Given the description of an element on the screen output the (x, y) to click on. 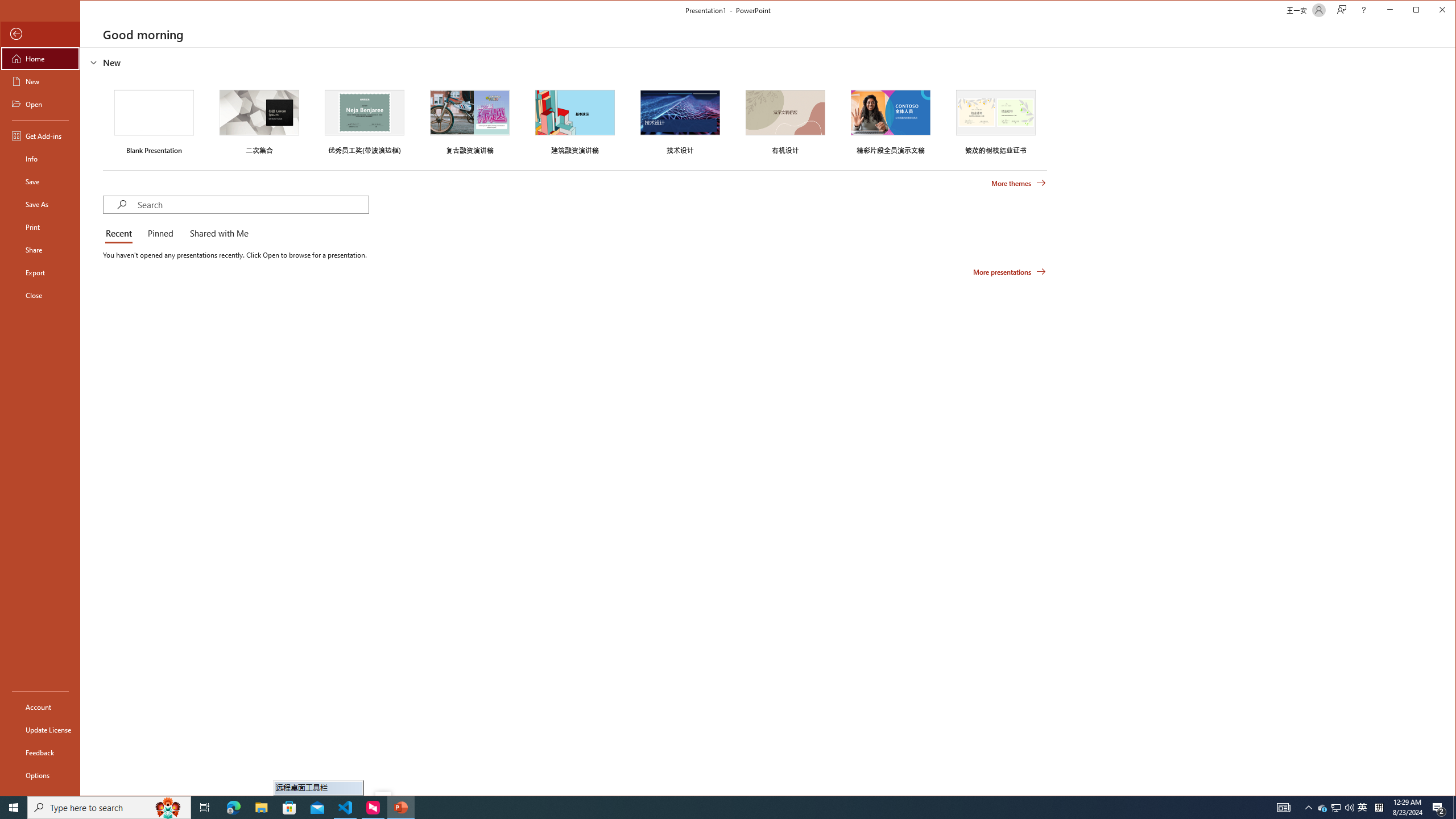
Export (40, 272)
New (40, 80)
Info (40, 158)
Back (40, 34)
Account (40, 706)
Recent (121, 234)
